Given the description of an element on the screen output the (x, y) to click on. 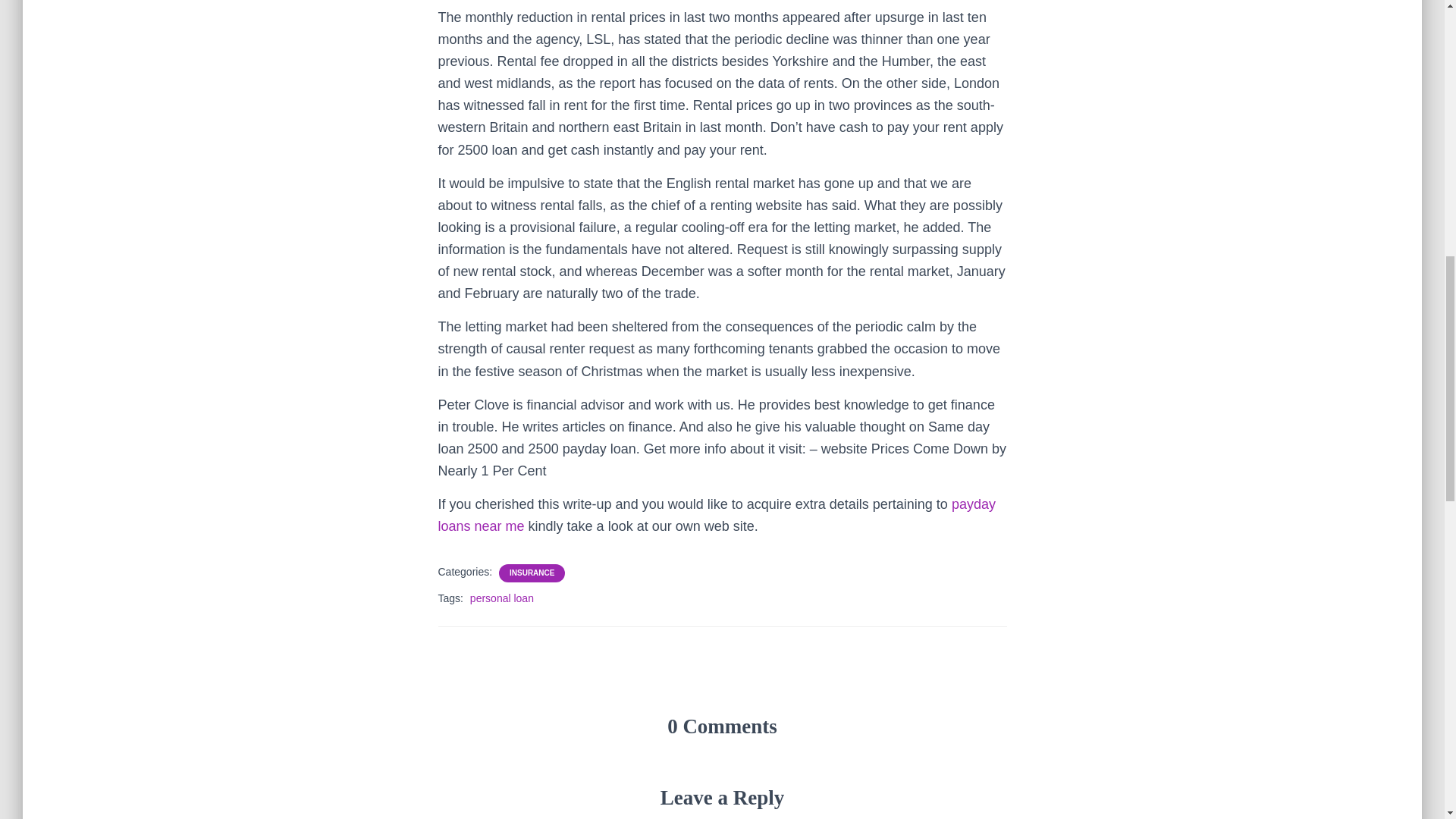
personal loan (502, 598)
INSURANCE (532, 573)
payday loans near me (716, 514)
